Given the description of an element on the screen output the (x, y) to click on. 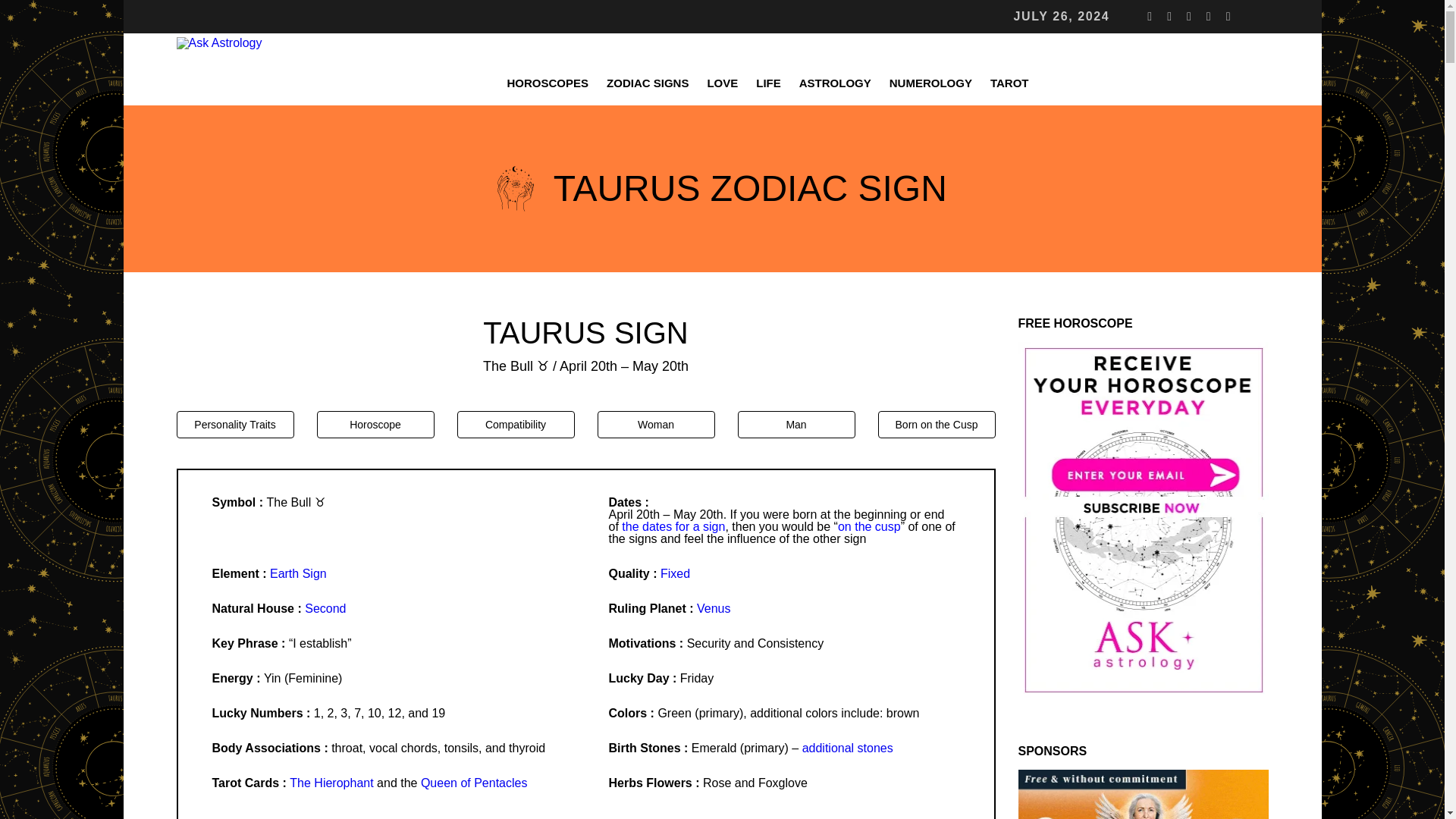
ZODIAC SIGNS (646, 82)
HOROSCOPES (547, 82)
JULY 26, 2024 (1061, 16)
